Given the description of an element on the screen output the (x, y) to click on. 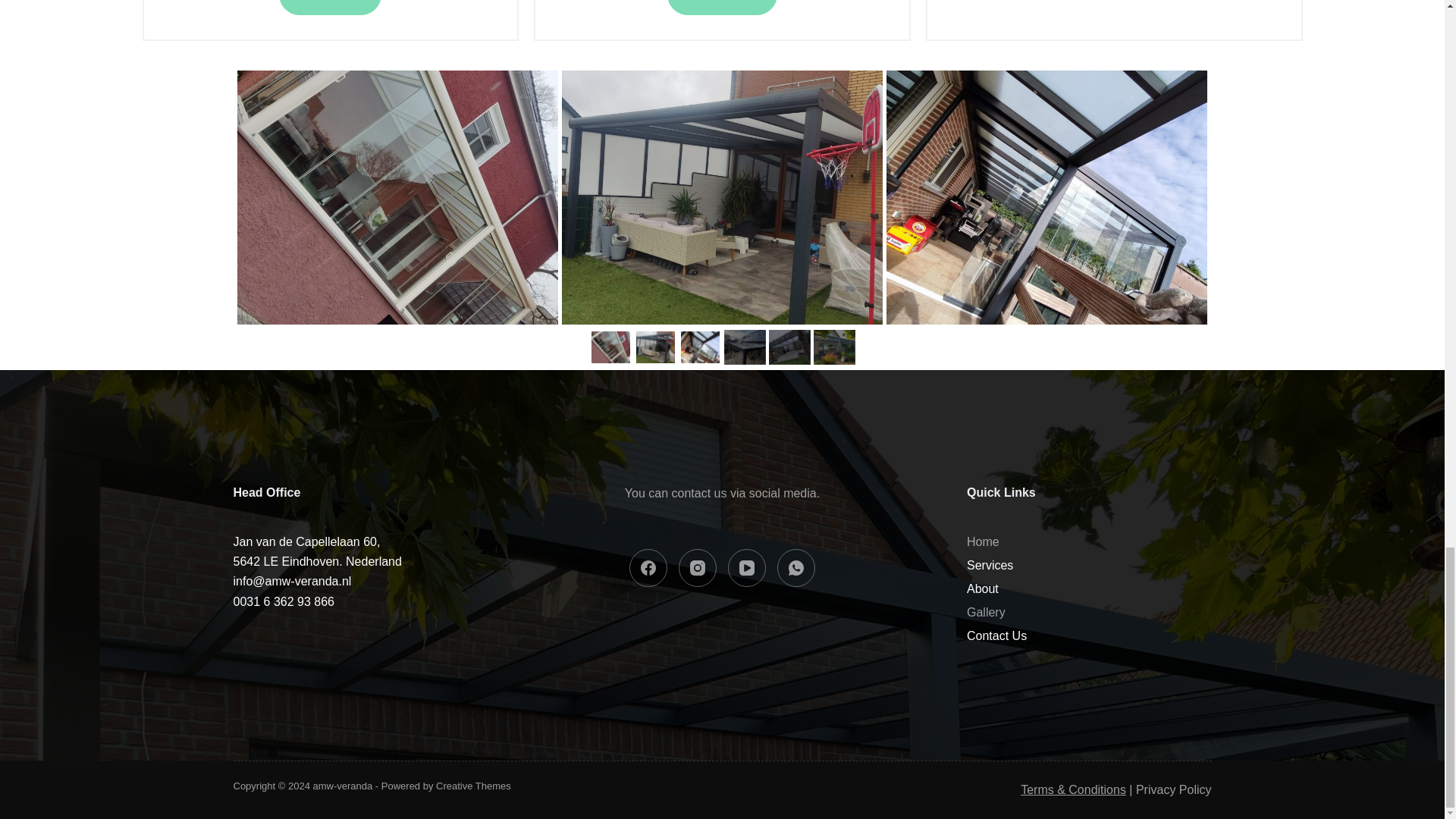
0031 6 362 93 866 (316, 550)
